Given the description of an element on the screen output the (x, y) to click on. 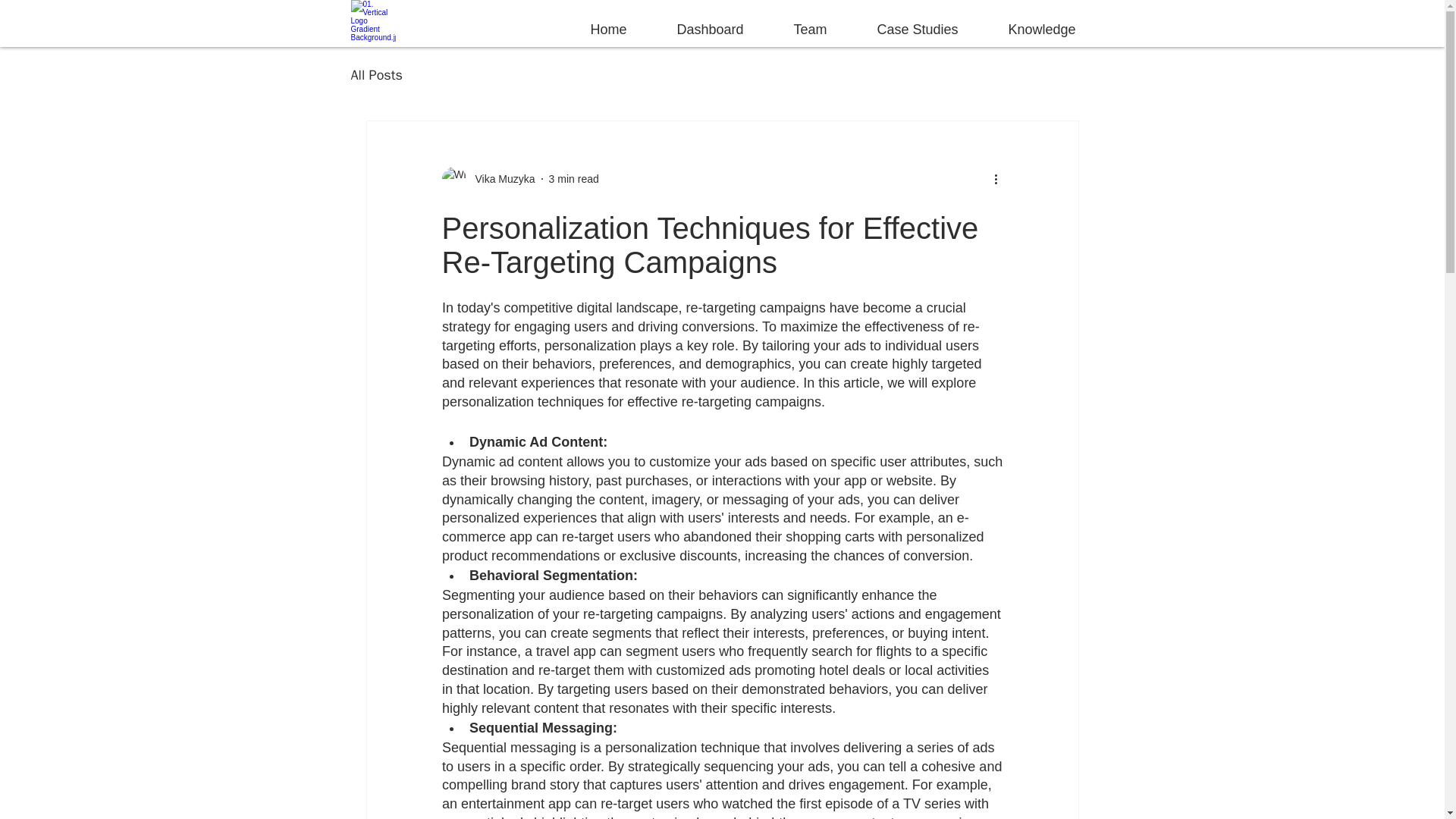
Home (596, 22)
Case Studies (905, 22)
All Posts (375, 75)
Dashboard (698, 22)
Vika Muzyka (487, 178)
3 min read (573, 178)
Vika Muzyka (499, 179)
Team (798, 22)
Knowledge (1030, 22)
